Given the description of an element on the screen output the (x, y) to click on. 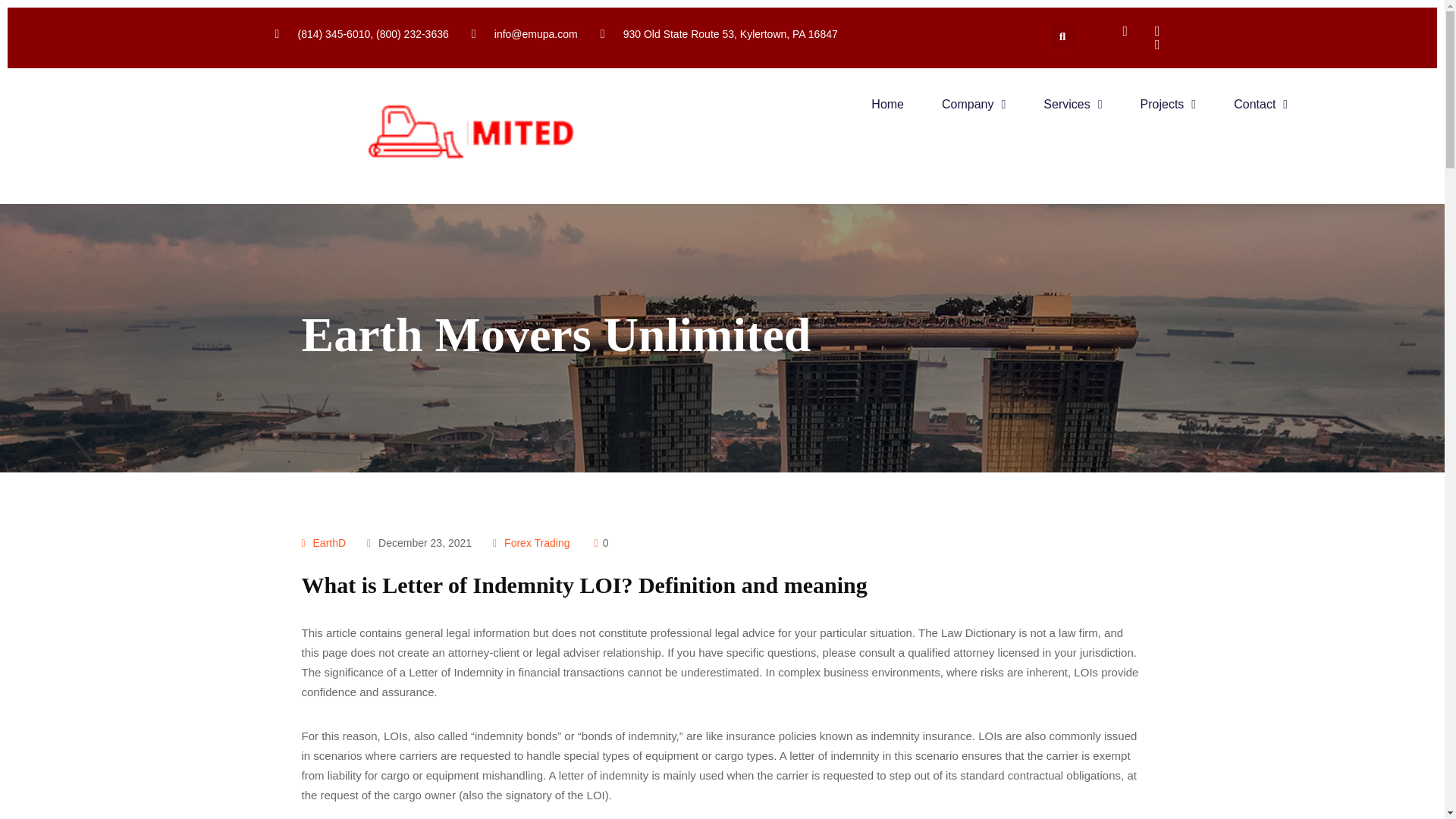
Home (887, 104)
Contact (1260, 104)
Projects (1168, 104)
Company (974, 104)
Services (1072, 104)
